Given the description of an element on the screen output the (x, y) to click on. 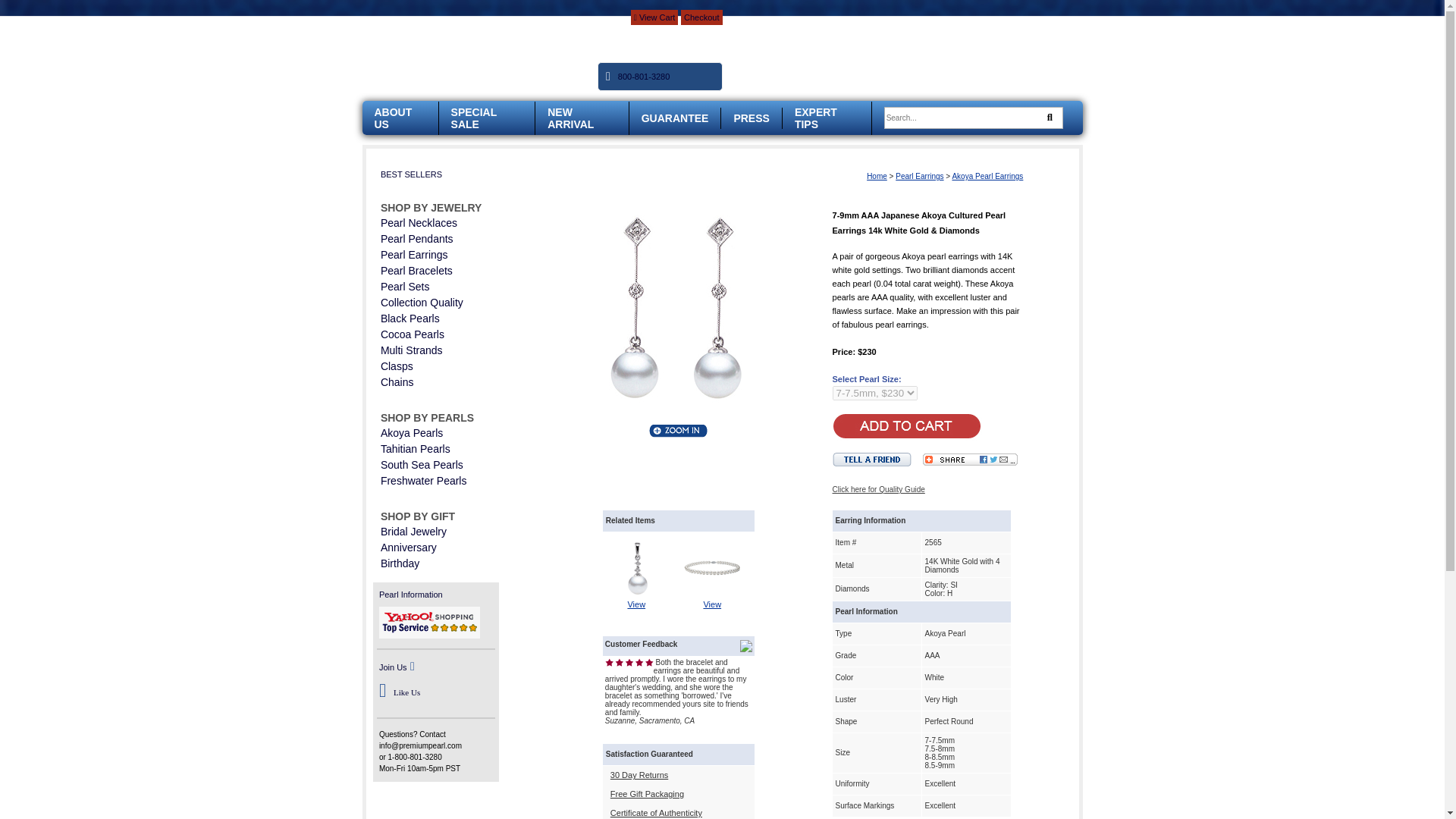
Clasps (396, 366)
EXPERT TIPS (815, 118)
Pearl Sets (404, 286)
Click here for Quality Guide (878, 489)
Chains (396, 381)
Join Us (392, 666)
Home (876, 175)
BEST SELLERS (411, 174)
SPECIAL SALE (473, 118)
Pearl Necklaces (418, 223)
